Given the description of an element on the screen output the (x, y) to click on. 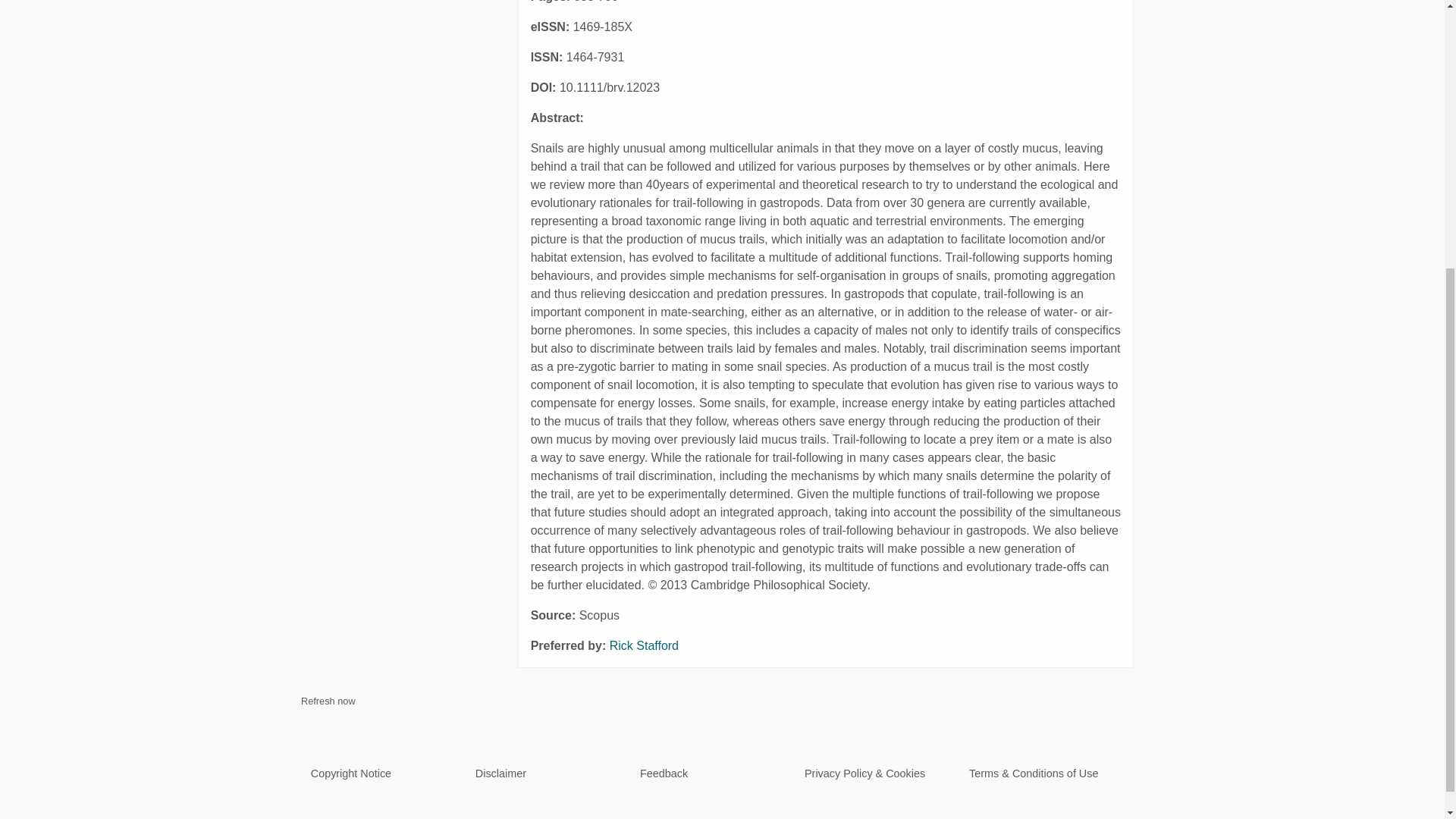
Feedback (663, 773)
Disclaimer (500, 773)
Copyright Notice (351, 773)
Refresh now (328, 700)
Rick Stafford (644, 645)
